Given the description of an element on the screen output the (x, y) to click on. 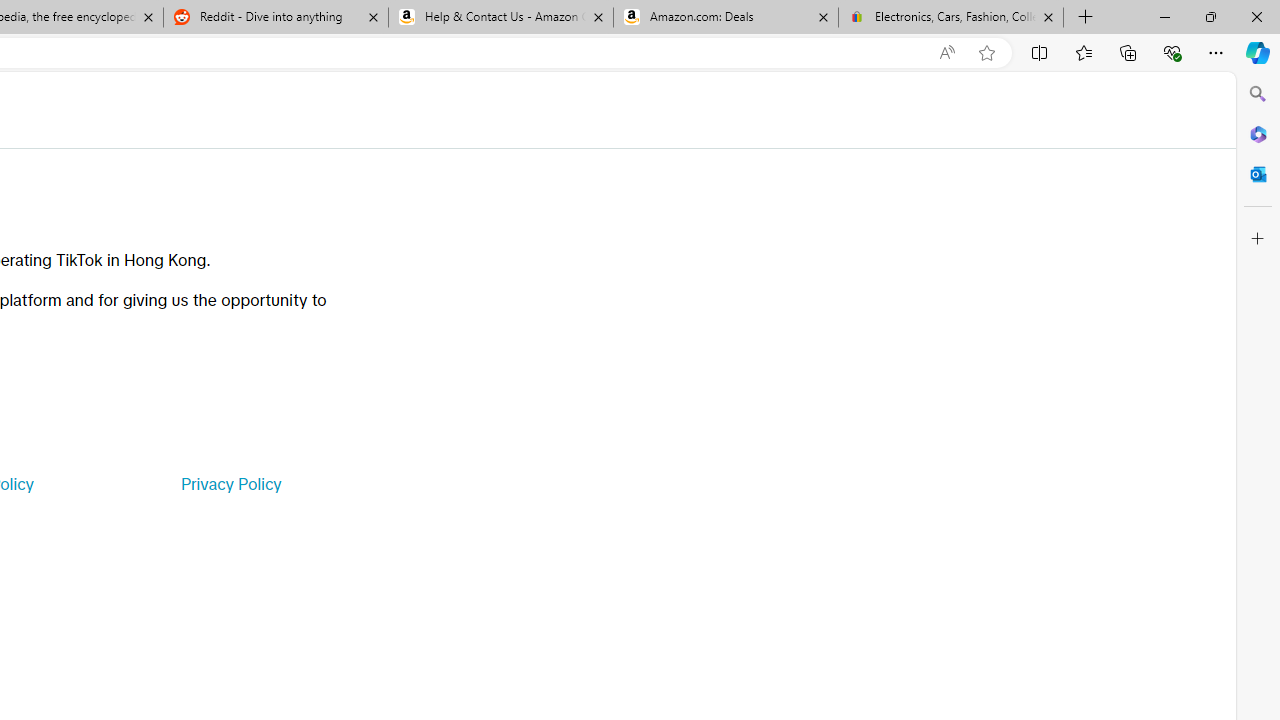
Privacy Policy (230, 484)
Amazon.com: Deals (726, 17)
